Given the description of an element on the screen output the (x, y) to click on. 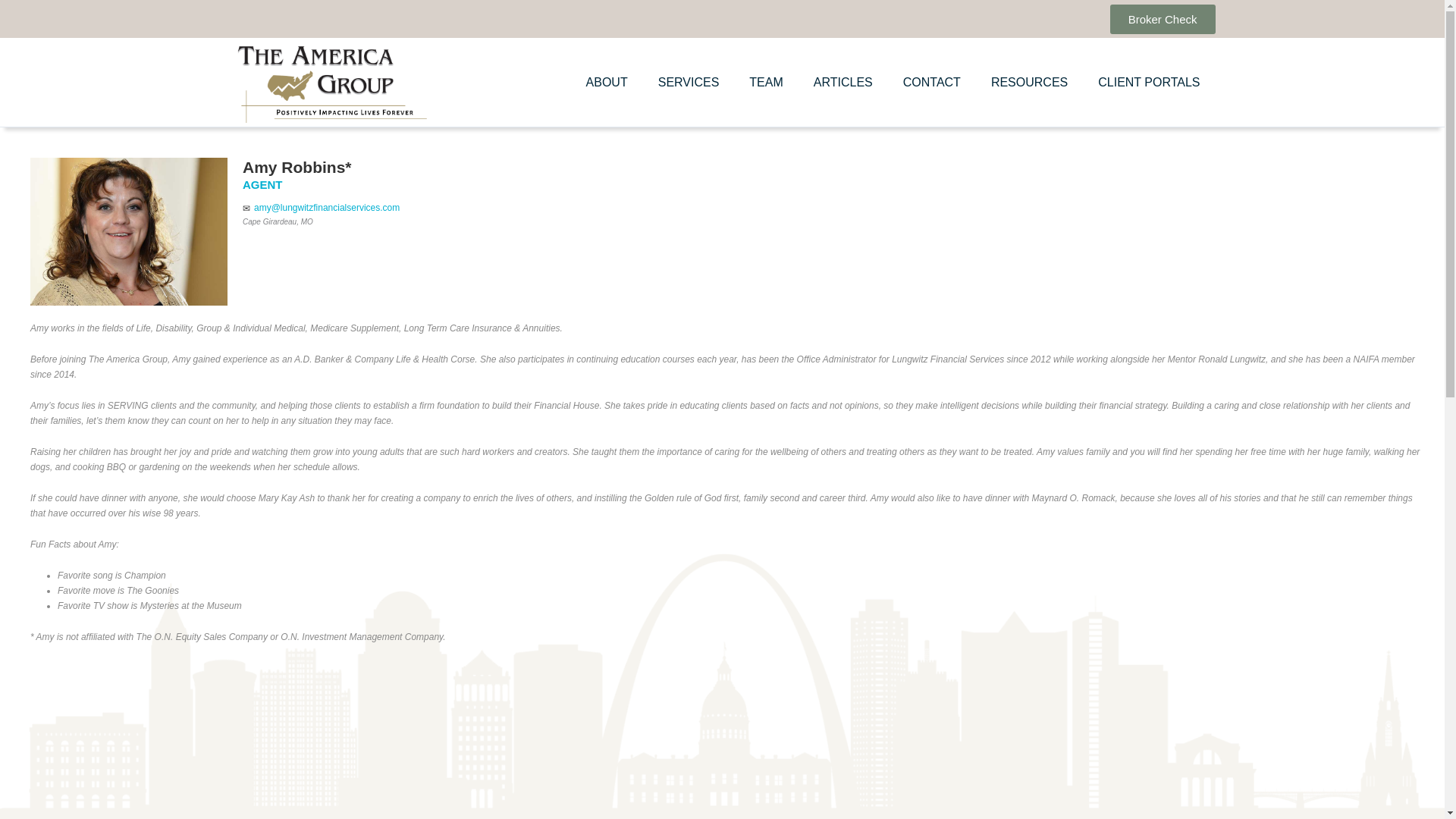
SERVICES (689, 82)
TEAM (765, 82)
Linkedin (1075, 18)
CLIENT PORTALS (1148, 82)
CONTACT (931, 82)
Broker Check (1162, 19)
ARTICLES (842, 82)
RESOURCES (1029, 82)
Youtube (1033, 18)
ABOUT (606, 82)
Facebook (992, 18)
